Given the description of an element on the screen output the (x, y) to click on. 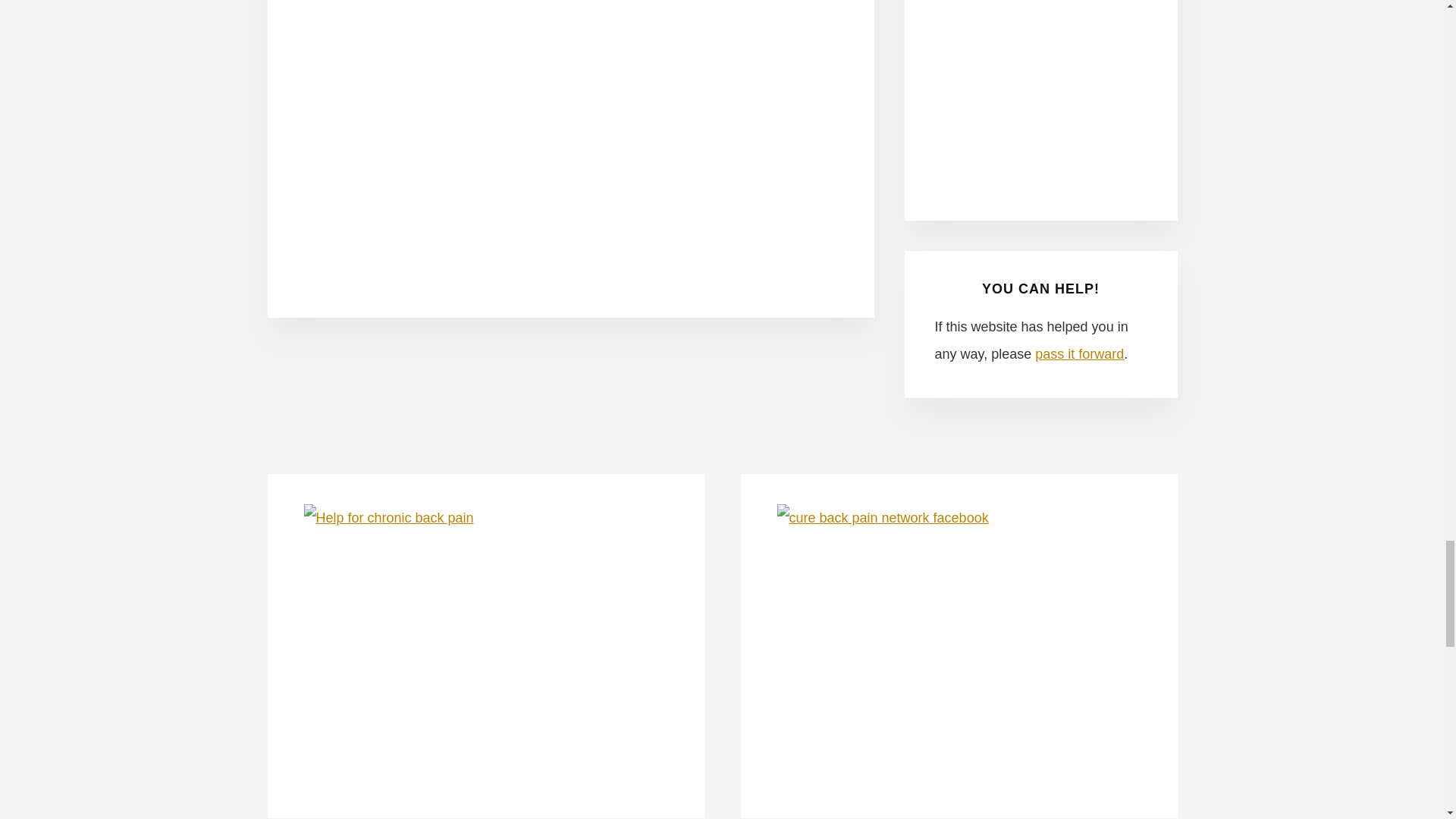
RecommendedBack Pain Books (1040, 85)
